Given the description of an element on the screen output the (x, y) to click on. 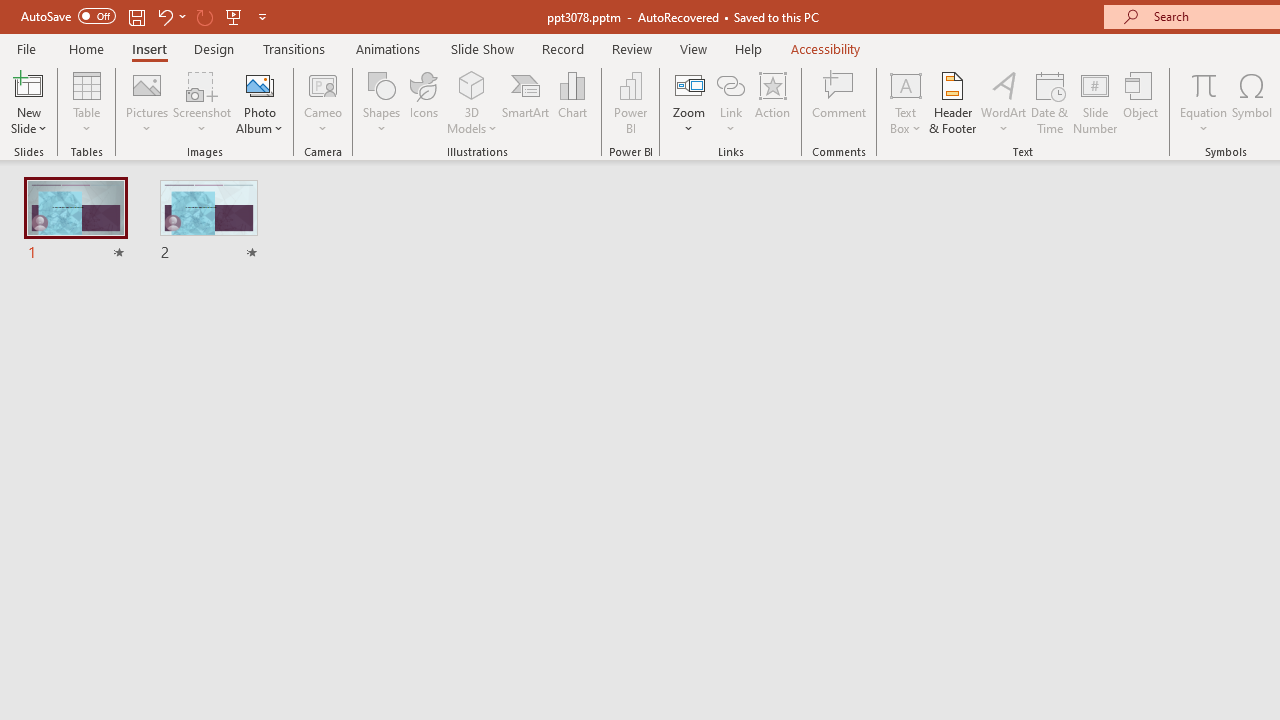
Slide Number (1095, 102)
Photo Album... (259, 102)
